Given the description of an element on the screen output the (x, y) to click on. 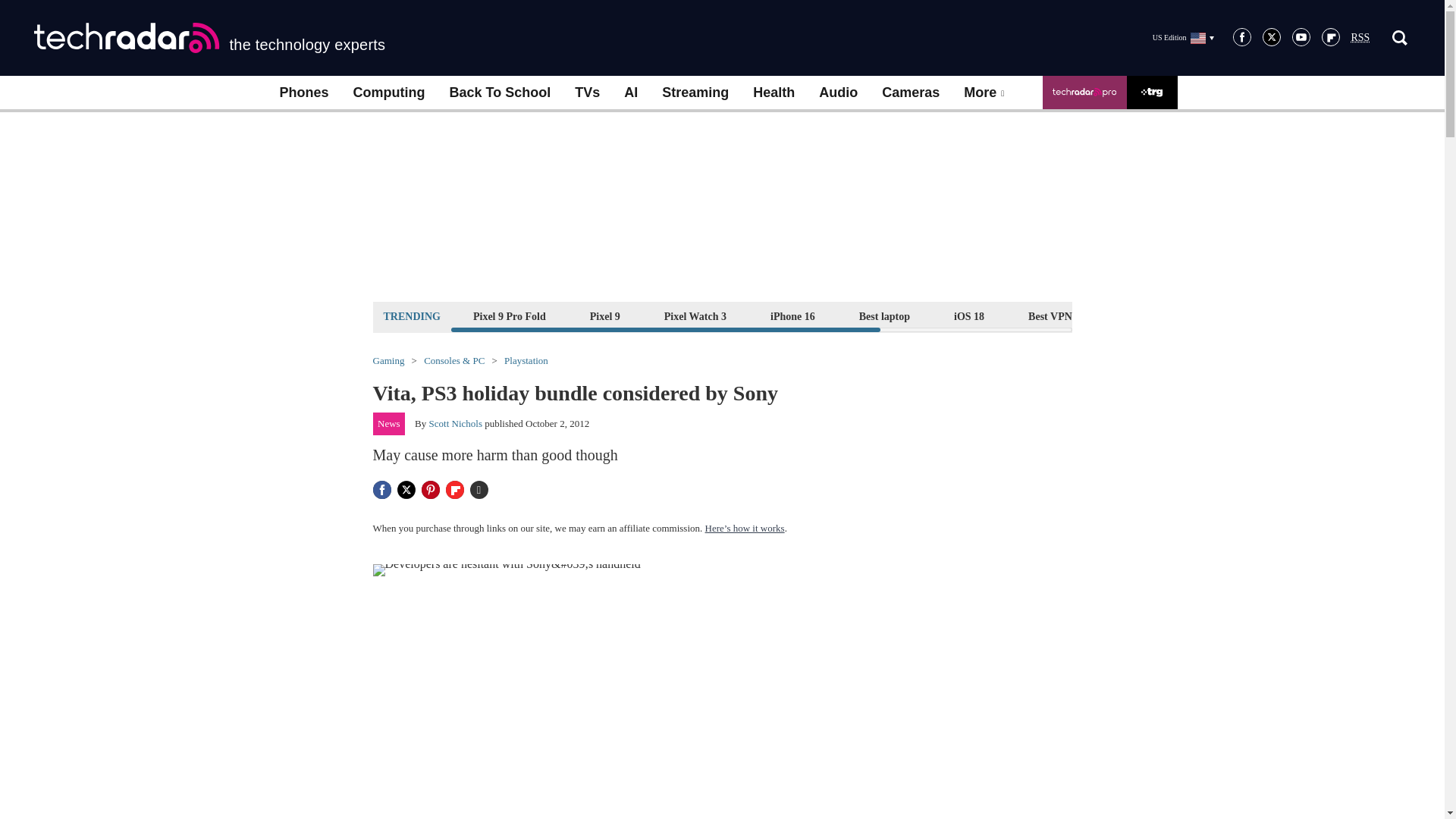
Really Simple Syndication (1360, 37)
Phones (303, 92)
Cameras (910, 92)
Computing (389, 92)
Audio (837, 92)
TVs (586, 92)
AI (630, 92)
the technology experts (209, 38)
Streaming (695, 92)
Health (773, 92)
